Given the description of an element on the screen output the (x, y) to click on. 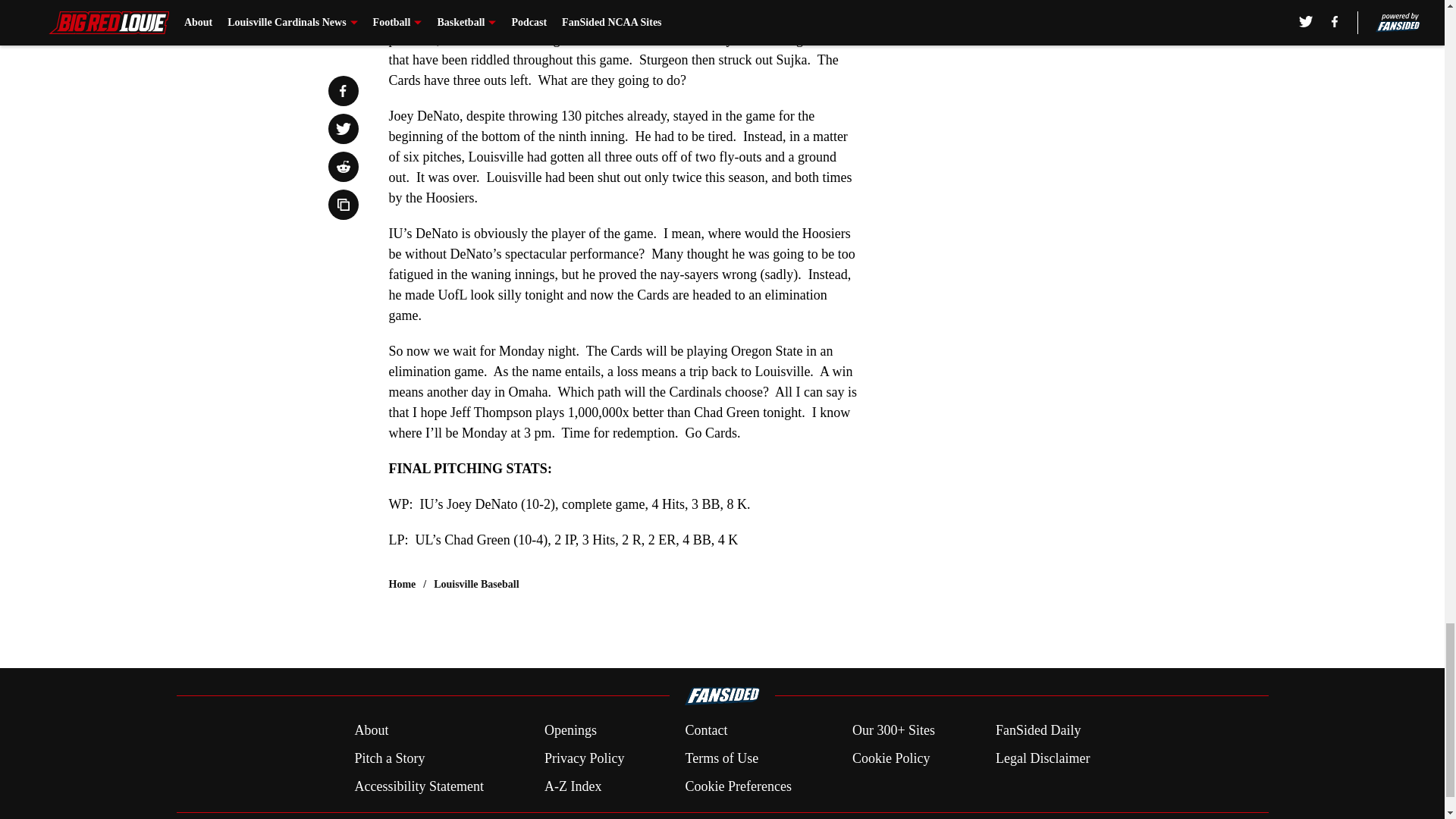
Pitch a Story (389, 758)
Privacy Policy (584, 758)
About (370, 730)
Cookie Preferences (737, 786)
Legal Disclaimer (1042, 758)
Home (401, 584)
Openings (570, 730)
A-Z Index (572, 786)
Cookie Policy (890, 758)
FanSided Daily (1038, 730)
